Given the description of an element on the screen output the (x, y) to click on. 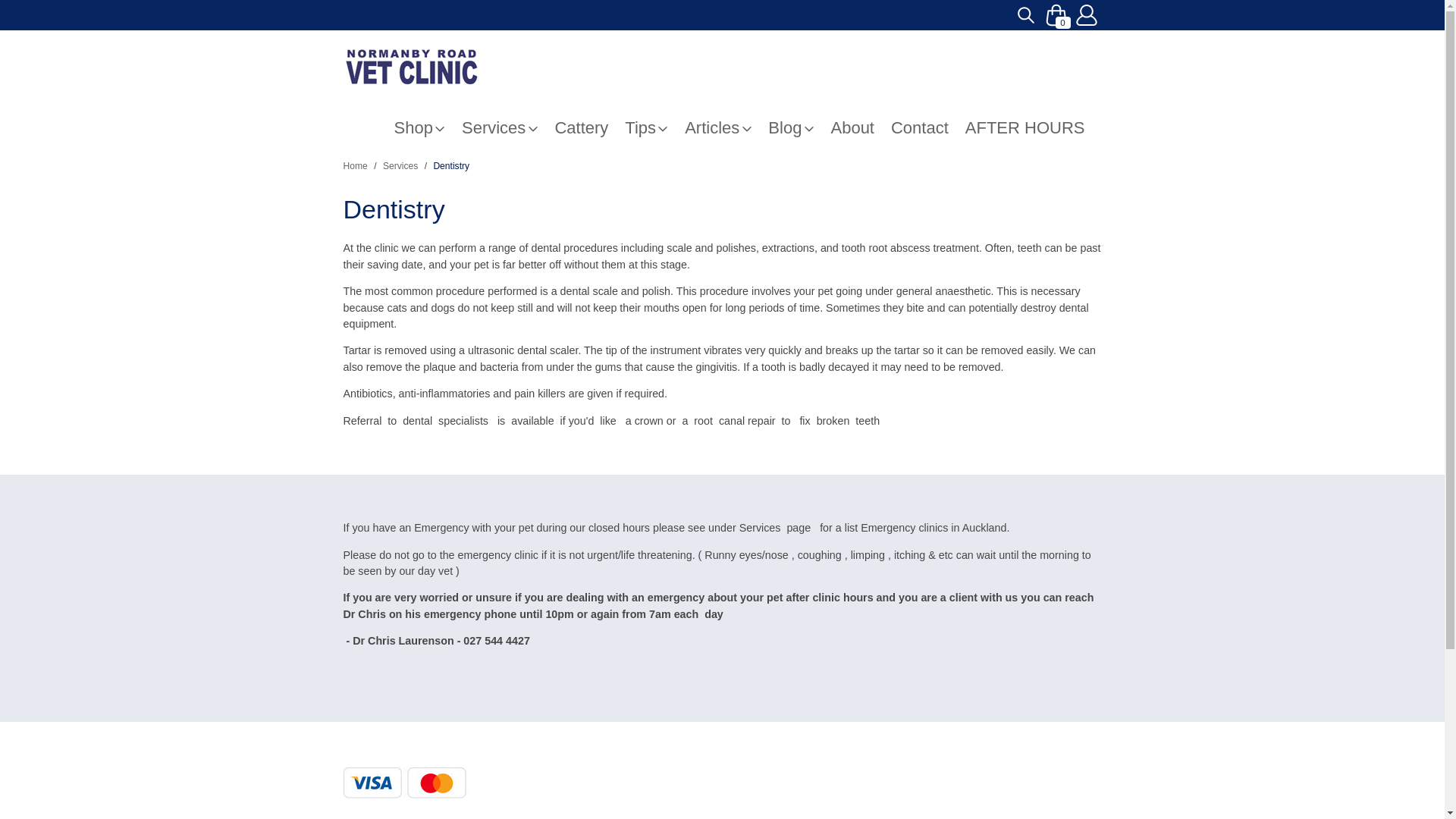
Shop (427, 127)
  0 (1055, 6)
Cart (1055, 6)
Search (1025, 15)
Profile (1085, 15)
